Given the description of an element on the screen output the (x, y) to click on. 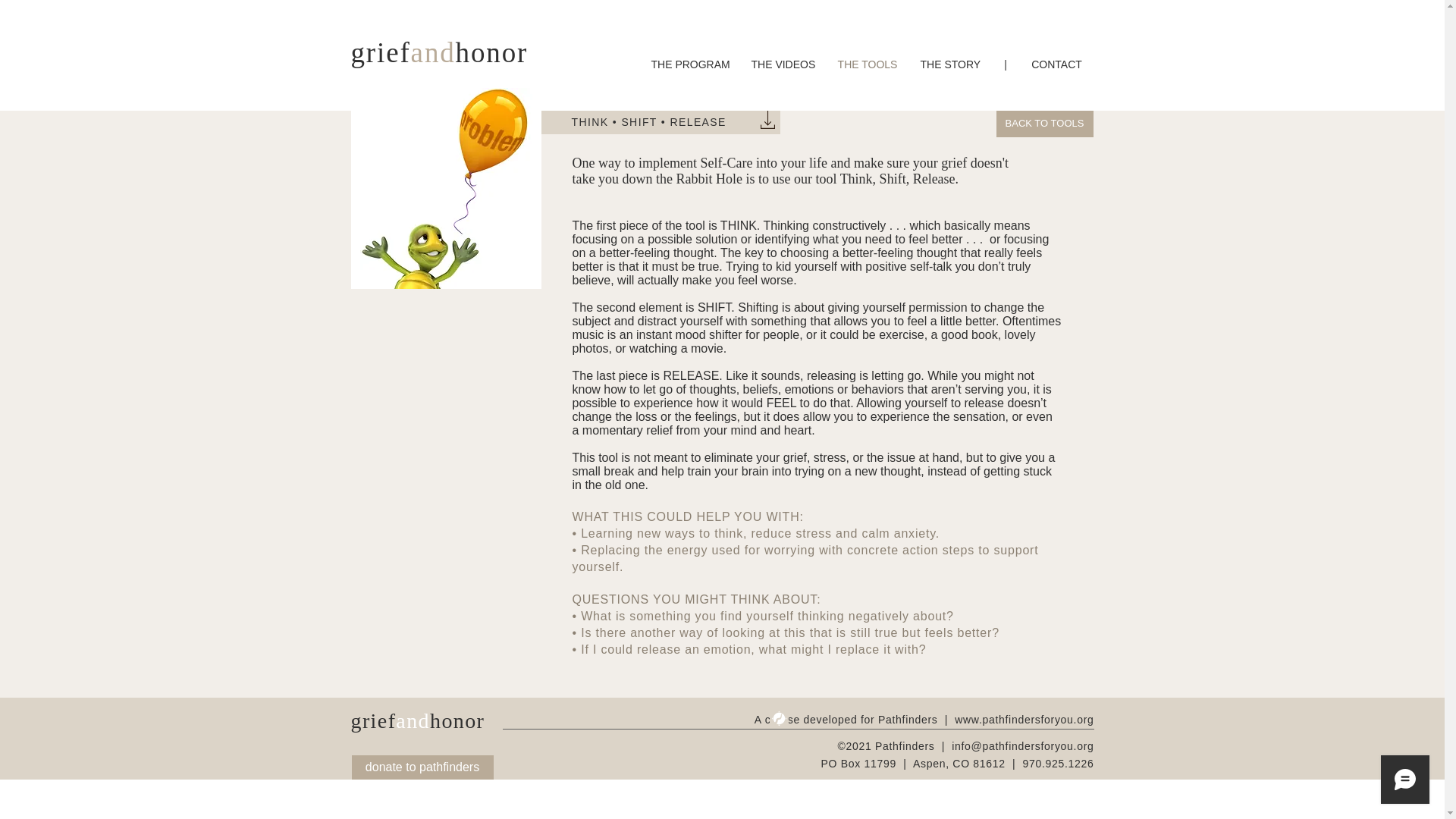
THE TOOLS (867, 64)
THE PROGRAM (689, 64)
grief (380, 51)
www.pathfindersforyou.org (1024, 719)
grief (373, 720)
CONTACT (1056, 64)
THE STORY (949, 64)
donate to pathfinders (422, 767)
honor (491, 51)
BACK TO TOOLS (1044, 123)
